Given the description of an element on the screen output the (x, y) to click on. 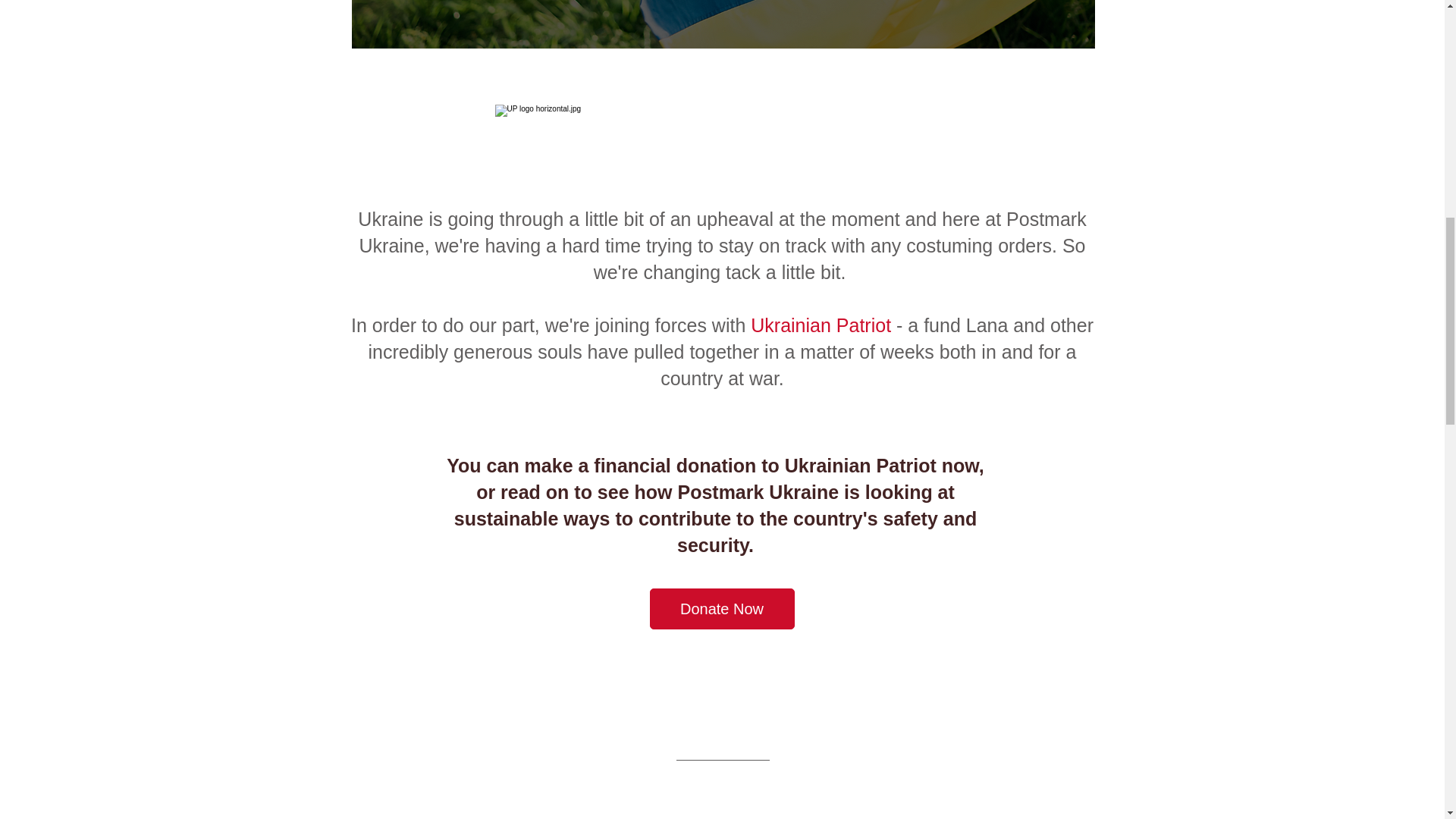
Ukrainian Patriot (821, 324)
Donate Now (721, 608)
